Given the description of an element on the screen output the (x, y) to click on. 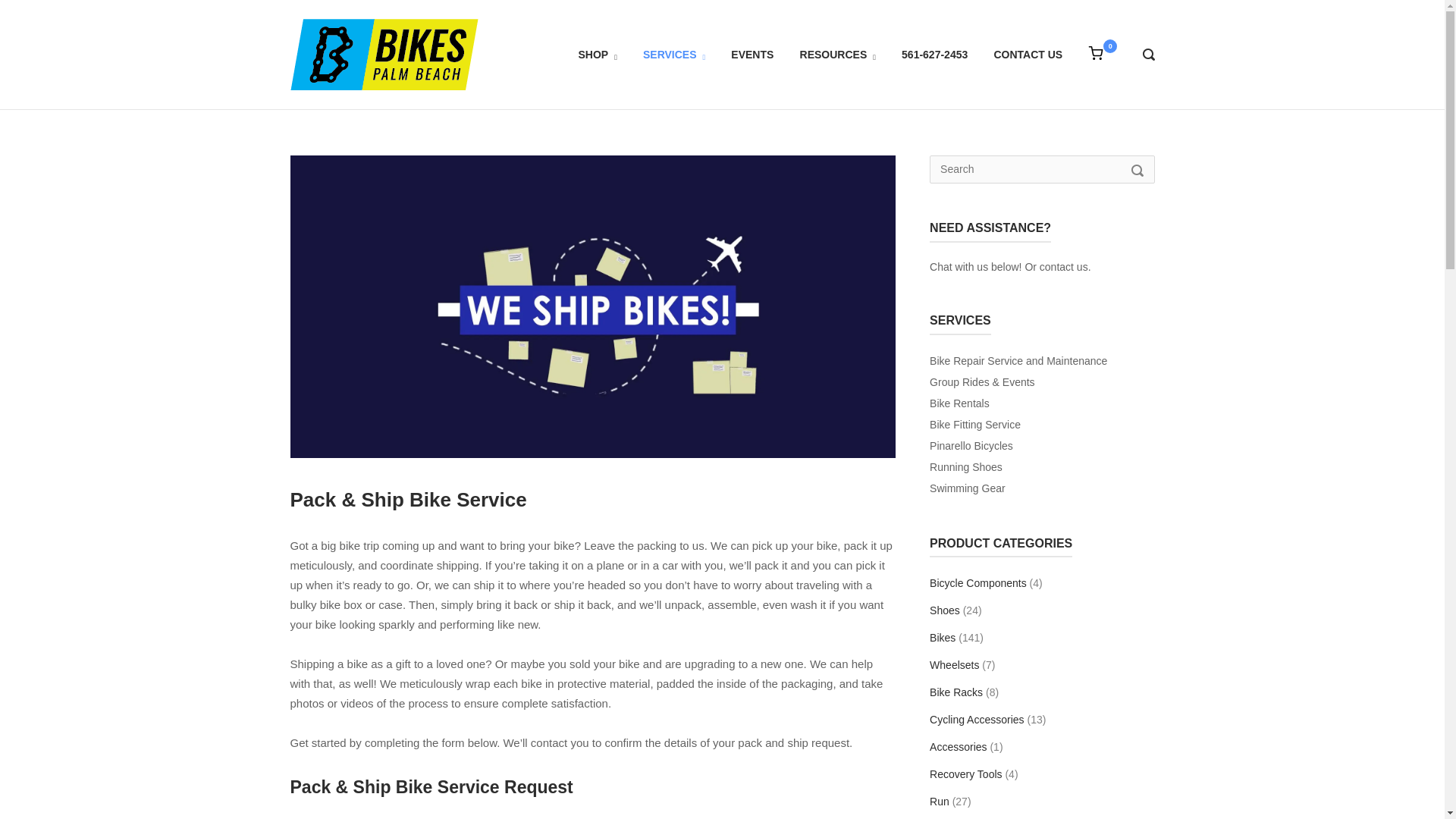
RESOURCES (837, 54)
Home (383, 52)
SERVICES (673, 54)
SHOP (596, 54)
EVENTS (751, 54)
View shopping cart (1095, 52)
